Given the description of an element on the screen output the (x, y) to click on. 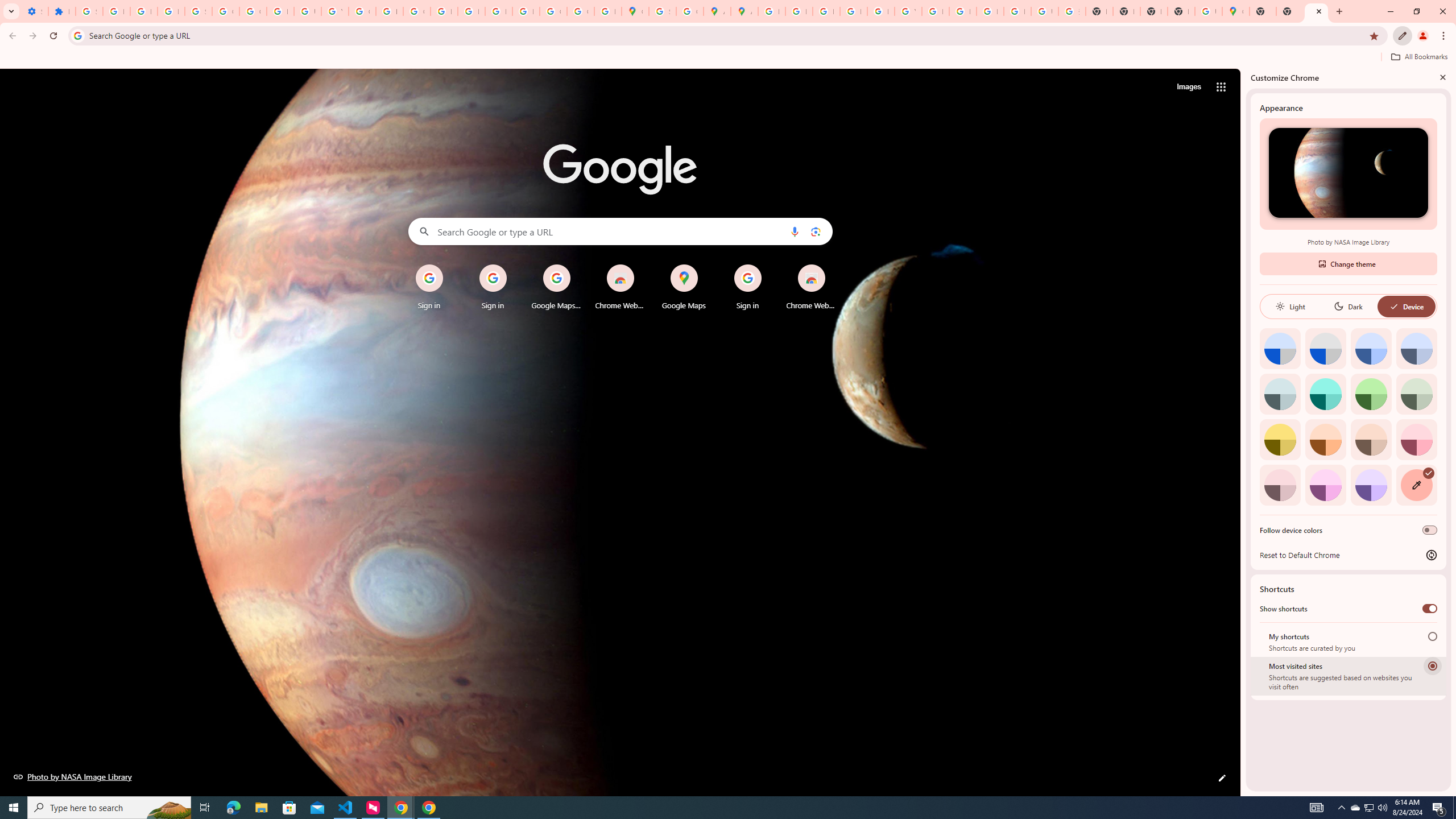
Remove (834, 265)
Create your Google Account (690, 11)
Google Account Help (253, 11)
YouTube (908, 11)
https://scholar.google.com/ (389, 11)
Green (1371, 393)
Citron (1279, 439)
Delete photos & videos - Computer - Google Photos Help (116, 11)
Sign in - Google Accounts (662, 11)
Use Google Maps in Space - Google Maps Help (1208, 11)
